Given the description of an element on the screen output the (x, y) to click on. 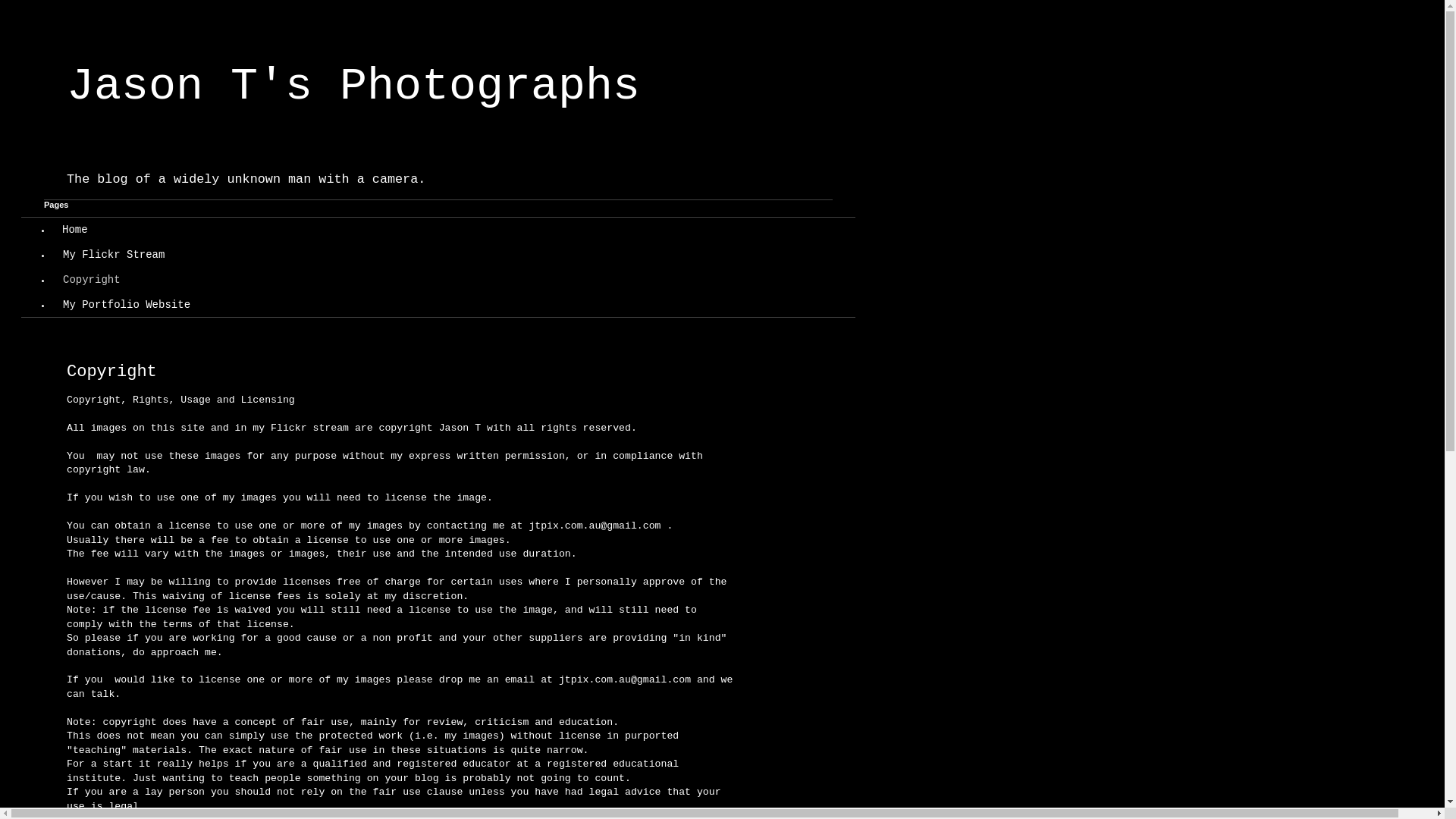
jtpix.com.au@gmail.com Element type: text (594, 525)
My Portfolio Website Element type: text (125, 303)
Jason T's Photographs Element type: text (353, 86)
jtpix.com.au@gmail.com Element type: text (624, 679)
Home Element type: text (74, 229)
Copyright Element type: text (91, 279)
My Flickr Stream Element type: text (113, 254)
Flickr stream Element type: text (312, 427)
